Given the description of an element on the screen output the (x, y) to click on. 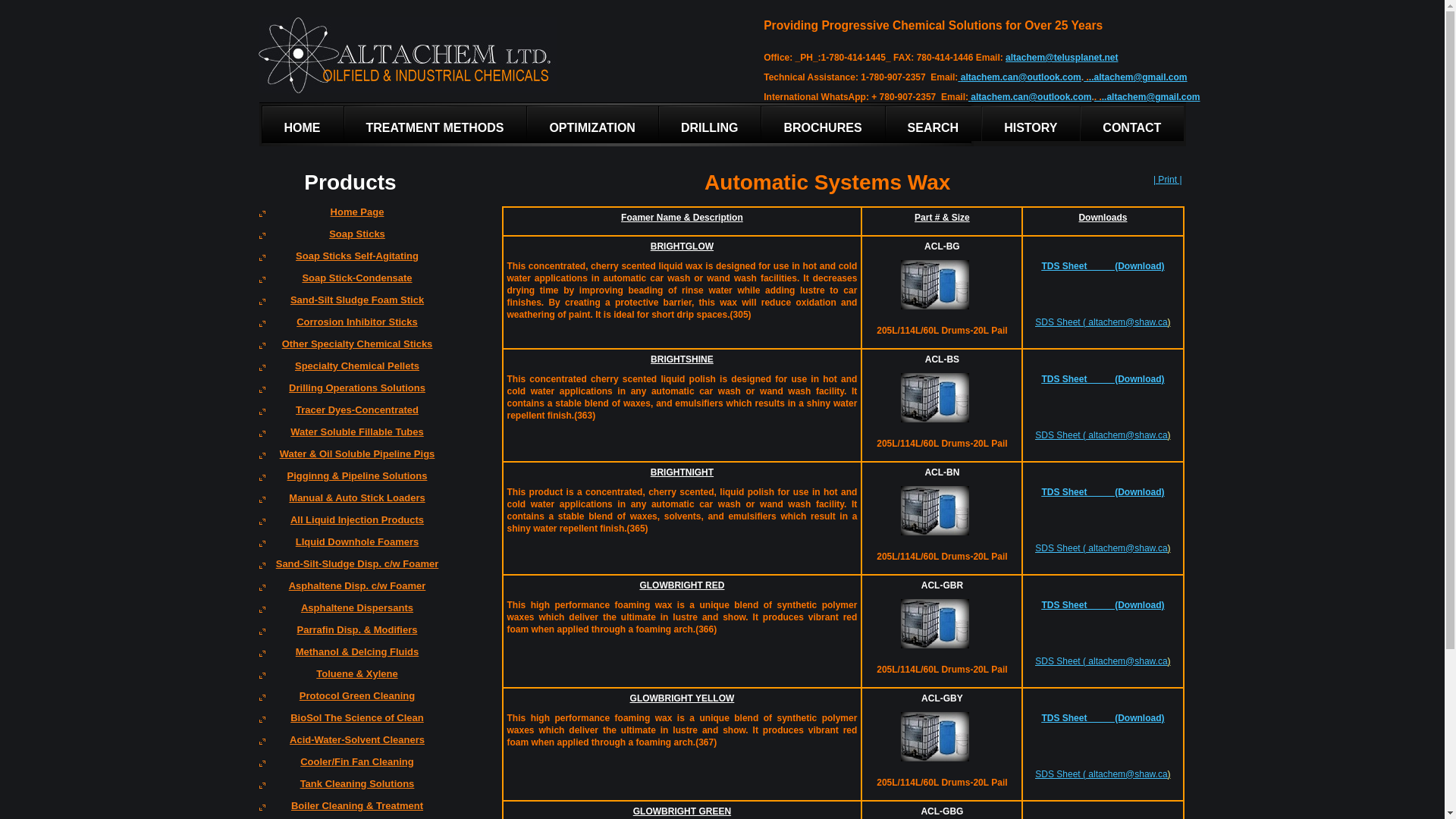
Methanol & DeIcing Fluids Element type: text (350, 657)
Protocol Green Cleaning Element type: text (350, 701)
Water Soluble Fillable Tubes Element type: text (350, 437)
altachem@shaw.ca Element type: text (1127, 660)
Specialty Chemical Pellets Element type: text (350, 371)
altachem.can@outlook.com Element type: text (1030, 96)
Acid-Water-Solvent Cleaners Element type: text (350, 745)
Asphaltene Disp. c/w Foamer Element type: text (350, 591)
Corrosion Inhibitor Sticks Element type: text (350, 327)
TDS Sheet_____ (Download) Element type: text (1102, 491)
TREATMENT METHODS Element type: text (435, 124)
DRILLING Element type: text (709, 124)
TDS Sheet_____ (Download) Element type: text (1102, 717)
Tracer Dyes-Concentrated Element type: text (350, 415)
Cooler/Fin Fan Cleaning Element type: text (350, 767)
altachem@shaw.ca Element type: text (1127, 434)
BioSol The Science of Clean Element type: text (350, 723)
Toluene & Xylene Element type: text (350, 679)
OPTIMIZATION Element type: text (592, 124)
LIquid Downhole Foamers Element type: text (350, 547)
Manual & Auto Stick Loaders Element type: text (350, 503)
Water & Oil Soluble Pipeline Pigs Element type: text (350, 459)
altachem@telusplanet.net Element type: text (1061, 57)
SDS Sheet ( Element type: text (1061, 434)
Drilling Operations Solutions Element type: text (350, 393)
altachem.can@outlook.com Element type: text (1020, 77)
HOME Element type: text (302, 124)
HISTORY Element type: text (1030, 124)
Other Specialty Chemical Sticks Element type: text (350, 349)
TDS Sheet_____ (Download) Element type: text (1102, 265)
altachem@shaw.ca Element type: text (1127, 321)
Tank Cleaning Solutions Element type: text (350, 789)
Soap Sticks Element type: text (350, 239)
altachem@shaw.ca Element type: text (1127, 773)
TDS Sheet_____ (Download) Element type: text (1102, 378)
..altachem@gmail.com Element type: text (1150, 96)
SDS Sheet ( Element type: text (1061, 547)
SDS Sheet ( Element type: text (1061, 321)
All Liquid Injection Products Element type: text (350, 525)
Soap Stick-Condensate Element type: text (350, 283)
Home Page Element type: text (350, 217)
Sand-Silt-Sludge Disp. c/w Foamer Element type: text (350, 569)
SDS Sheet ( Element type: text (1061, 773)
Soap Sticks Self-Agitating Element type: text (350, 261)
altachem@shaw.ca Element type: text (1127, 547)
Sand-Silt Sludge Foam Stick Element type: text (350, 305)
Pigginng & Pipeline Solutions Element type: text (350, 481)
Parrafin Disp. & Modifiers Element type: text (350, 635)
SDS Sheet ( Element type: text (1061, 660)
. . Element type: text (1097, 96)
SEARCH Element type: text (933, 124)
CONTACT Element type: text (1131, 124)
. Element type: text (1085, 77)
..altachem@gmail.com Element type: text (1137, 77)
TDS Sheet_____ (Download) Element type: text (1102, 604)
BROCHURES Element type: text (822, 124)
| Print | Element type: text (1167, 179)
Asphaltene Dispersants Element type: text (350, 613)
